Given the description of an element on the screen output the (x, y) to click on. 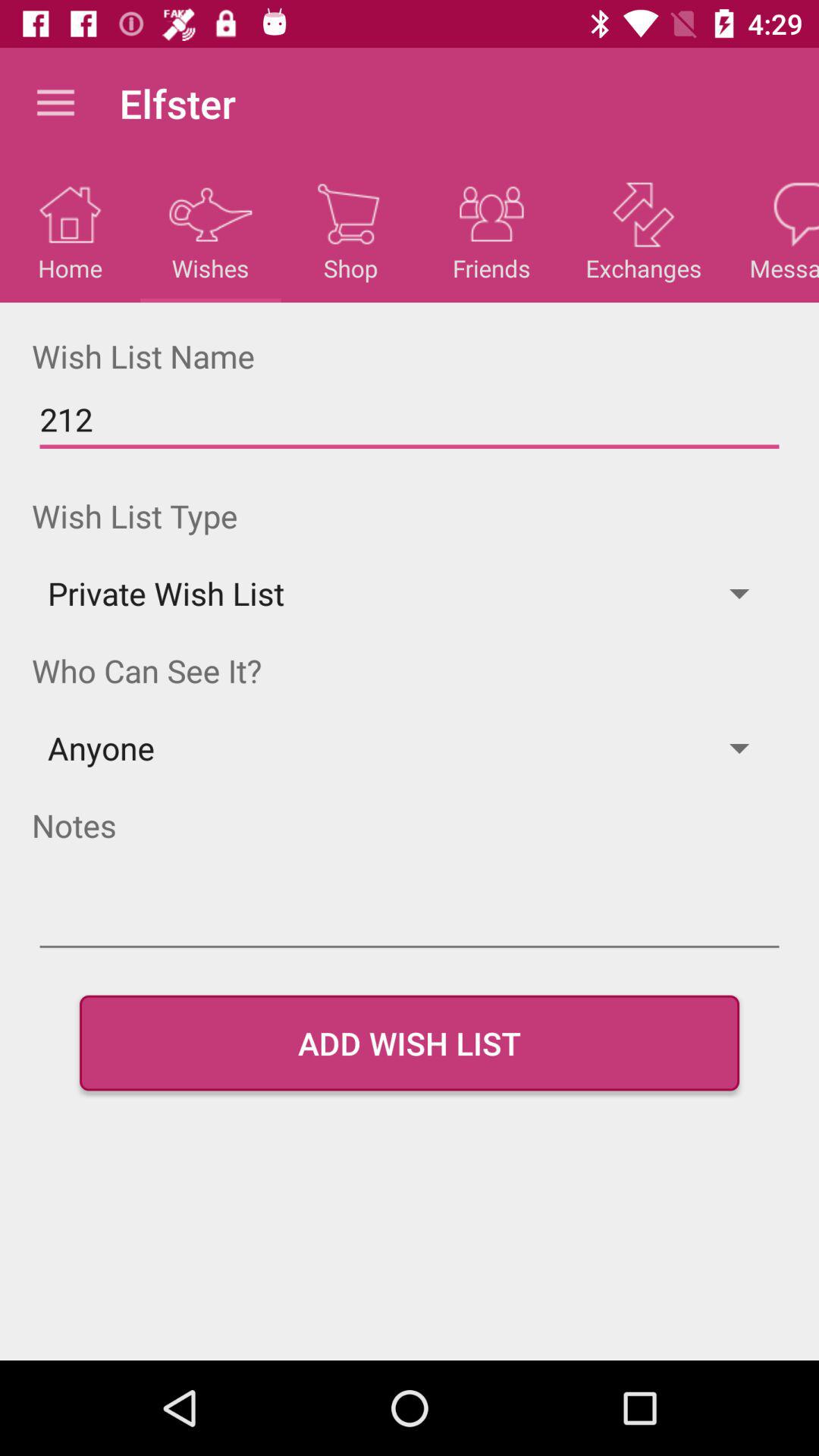
turn on 212 (409, 419)
